Given the description of an element on the screen output the (x, y) to click on. 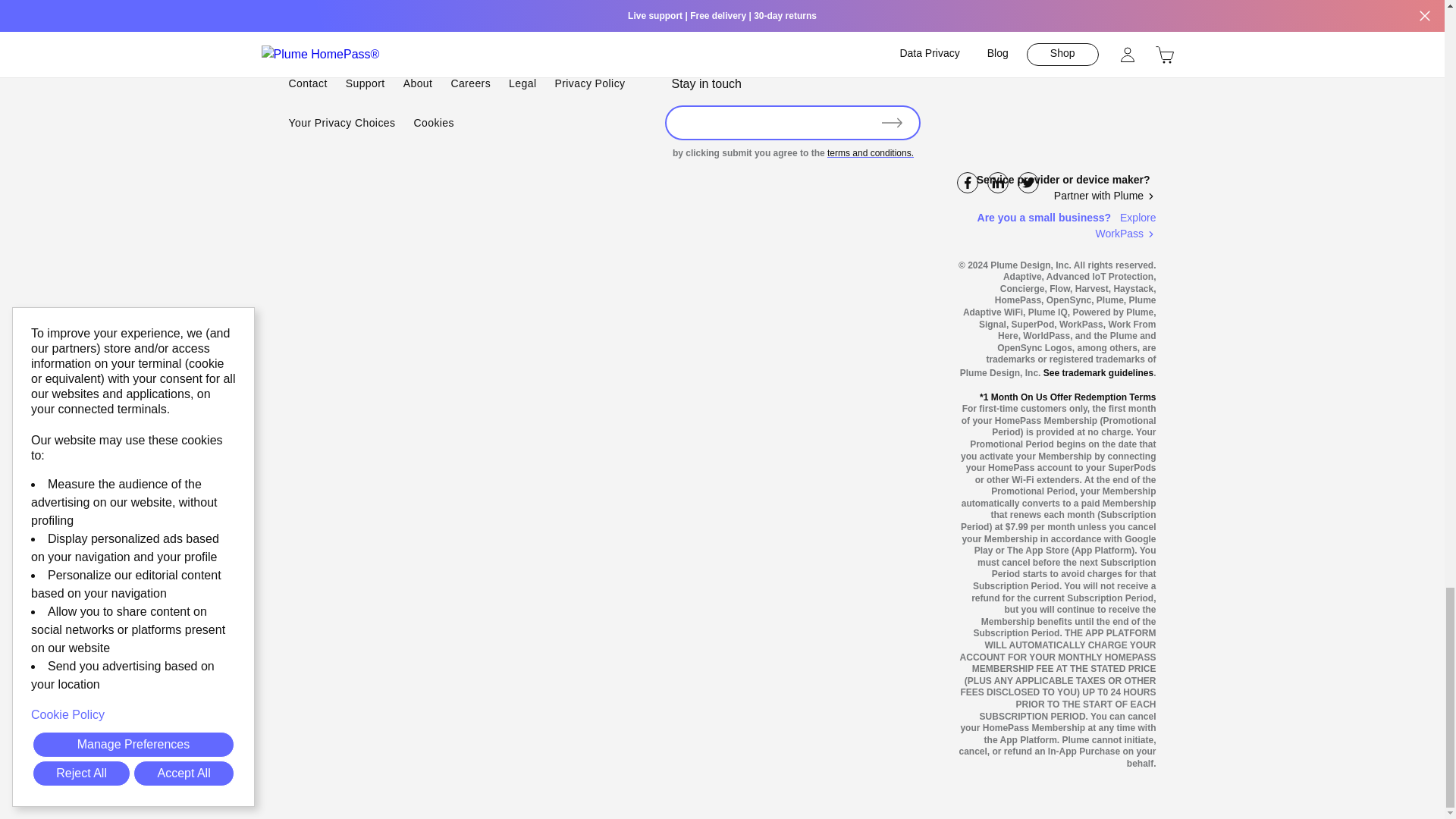
About (417, 84)
Careers (469, 84)
Privacy Policy (589, 84)
Legal (521, 84)
Contact (307, 84)
Support (365, 84)
